Given the description of an element on the screen output the (x, y) to click on. 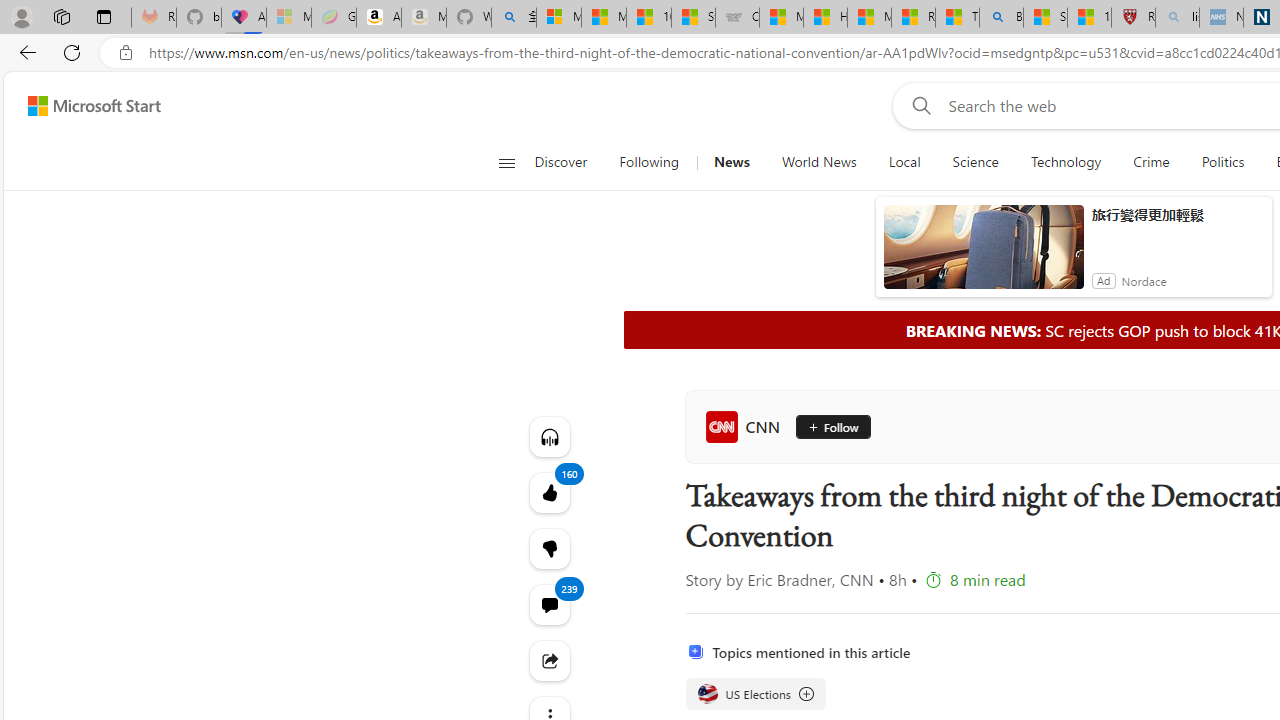
Crime (1151, 162)
list of asthma inhalers uk - Search - Sleeping (1177, 17)
News (731, 162)
Class: button-glyph (505, 162)
Politics (1222, 162)
Nordace (1144, 280)
anim-content (983, 255)
Dislike (548, 548)
NCL Adult Asthma Inhaler Choice Guideline - Sleeping (1220, 17)
Politics (1222, 162)
Crime (1150, 162)
